Given the description of an element on the screen output the (x, y) to click on. 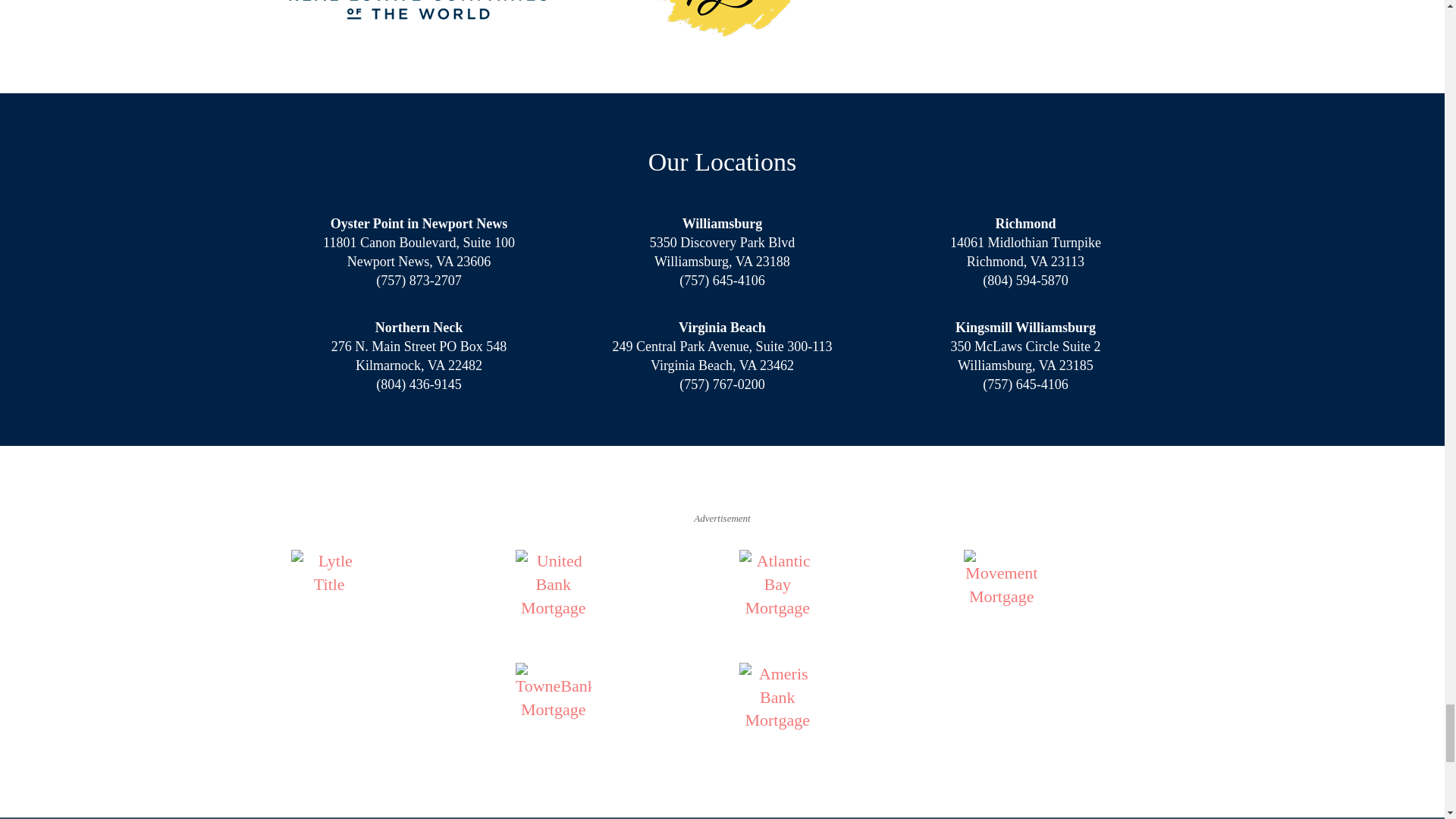
Open link in new window. (834, 700)
Open link in new window. (610, 587)
Open link in new window. (834, 587)
Open link in new window. (385, 587)
Open link in new window. (610, 700)
Open link in new window. (1058, 587)
